Given the description of an element on the screen output the (x, y) to click on. 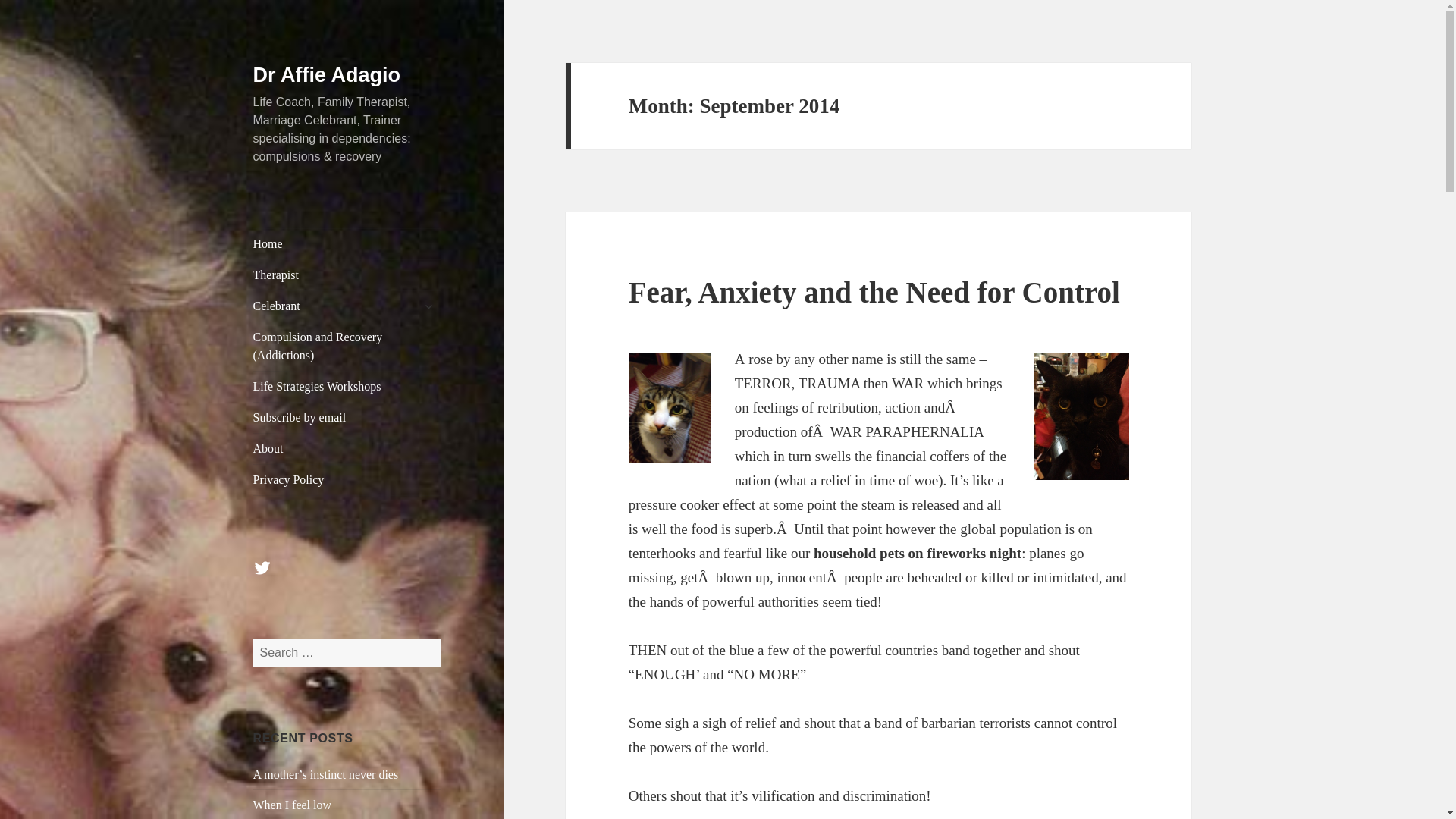
Life Strategies Workshops (347, 386)
Dr Affie Adagio (327, 74)
Privacy Policy (347, 480)
expand child menu (428, 306)
Celebrant (347, 306)
Therapist (347, 275)
About (347, 449)
